Given the description of an element on the screen output the (x, y) to click on. 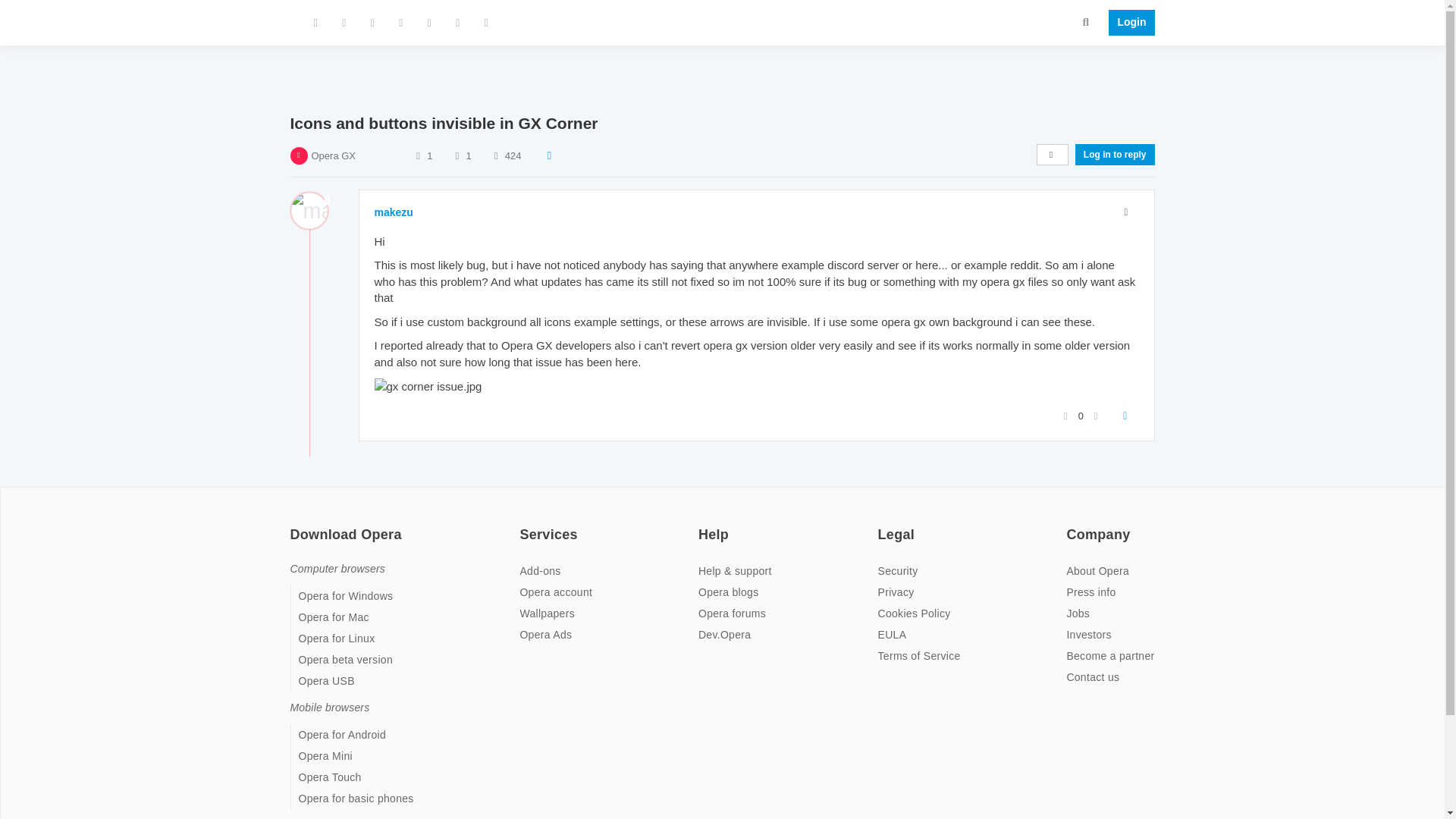
on (293, 524)
on (702, 524)
Opera GX (333, 155)
makezu (393, 212)
Log in to reply (1114, 154)
Login (1127, 22)
on (523, 524)
on (881, 524)
on (1070, 524)
Search (1085, 21)
